Given the description of an element on the screen output the (x, y) to click on. 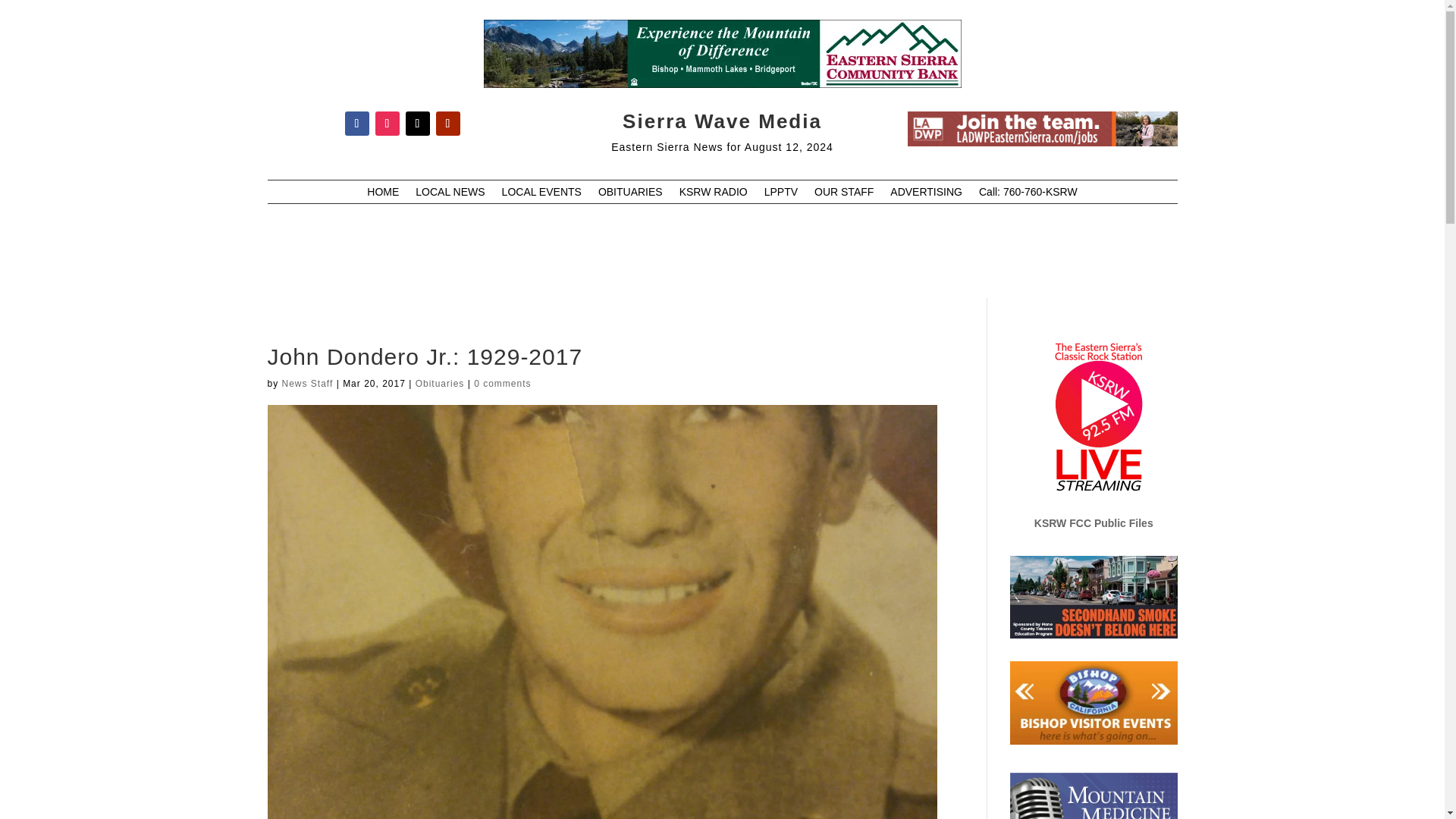
KSRW RADIO (713, 194)
Follow on Facebook (355, 123)
0 comments (502, 383)
KSRW FCC Public Files (1093, 522)
Posts by News Staff (307, 383)
Home (382, 194)
Follow on X (416, 123)
Call: 760-760-KSRW (1027, 194)
News Staff (307, 383)
ADVERTISING (925, 194)
